Given the description of an element on the screen output the (x, y) to click on. 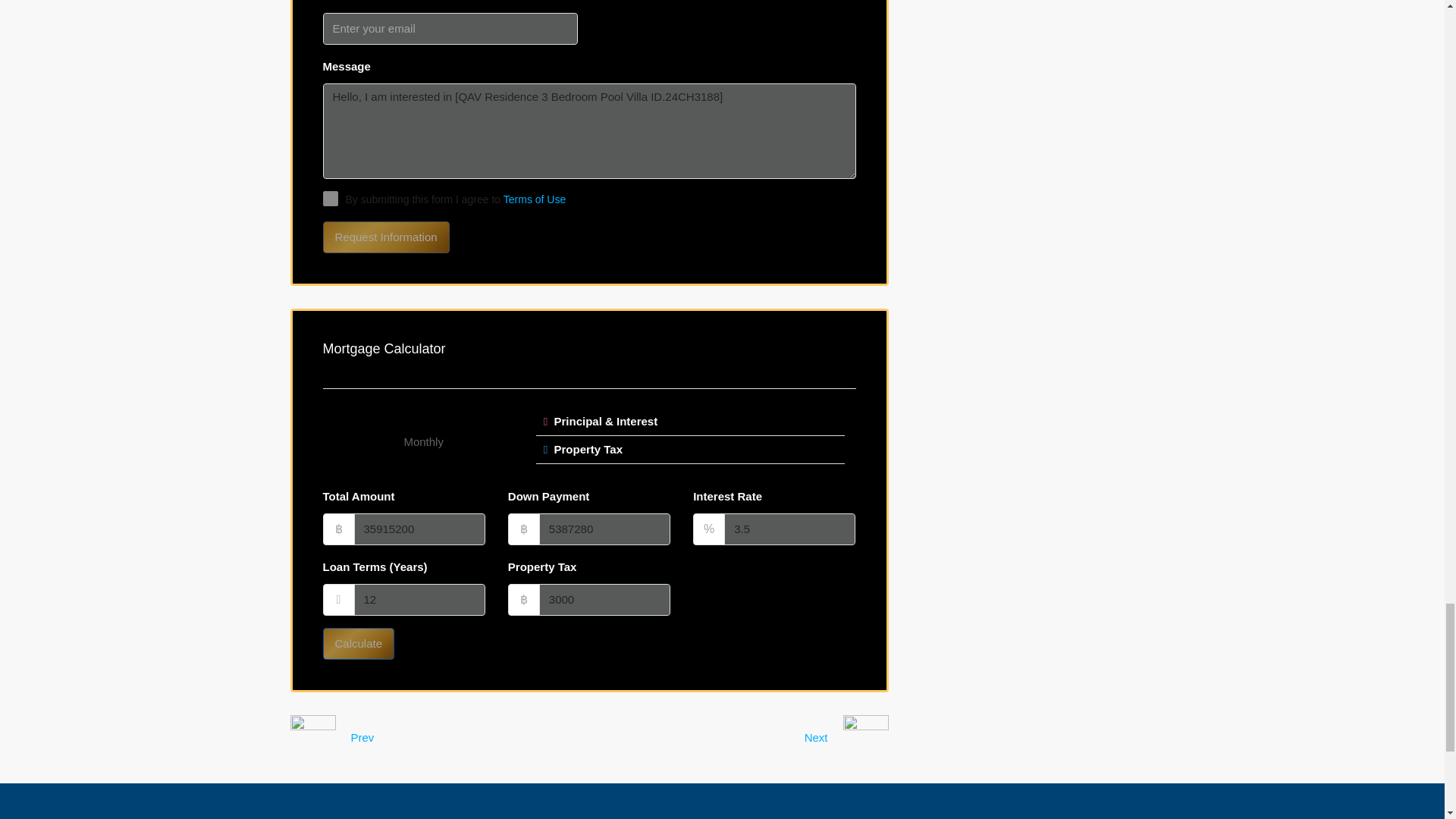
3000 (603, 599)
35915200 (418, 529)
12 (418, 599)
5387280 (603, 529)
3.5 (789, 529)
